Given the description of an element on the screen output the (x, y) to click on. 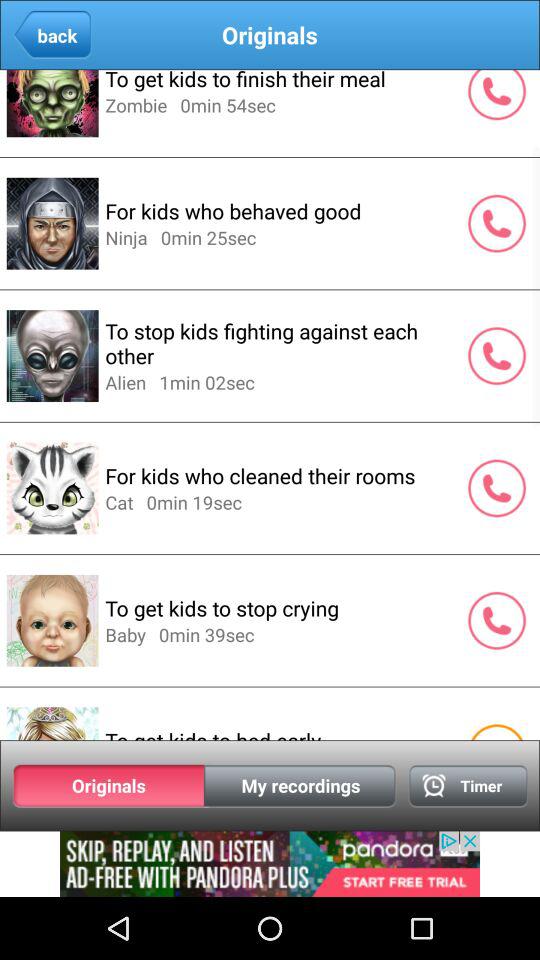
toggle timer option (468, 785)
